Given the description of an element on the screen output the (x, y) to click on. 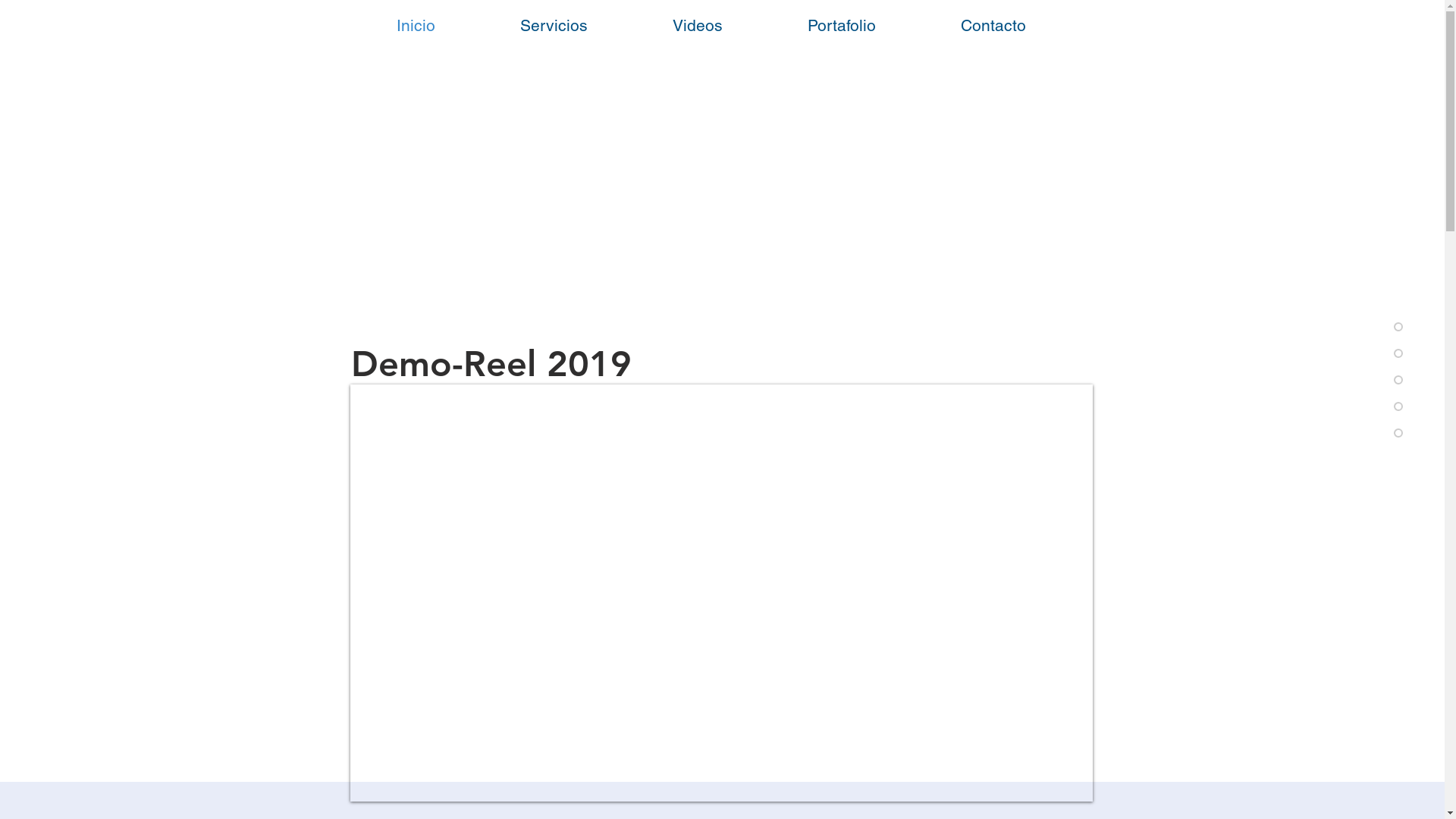
Servicios Element type: text (553, 25)
Contacto Element type: text (992, 25)
Inicio Element type: text (414, 25)
Portafolio Element type: text (840, 25)
Videos Element type: text (696, 25)
